Given the description of an element on the screen output the (x, y) to click on. 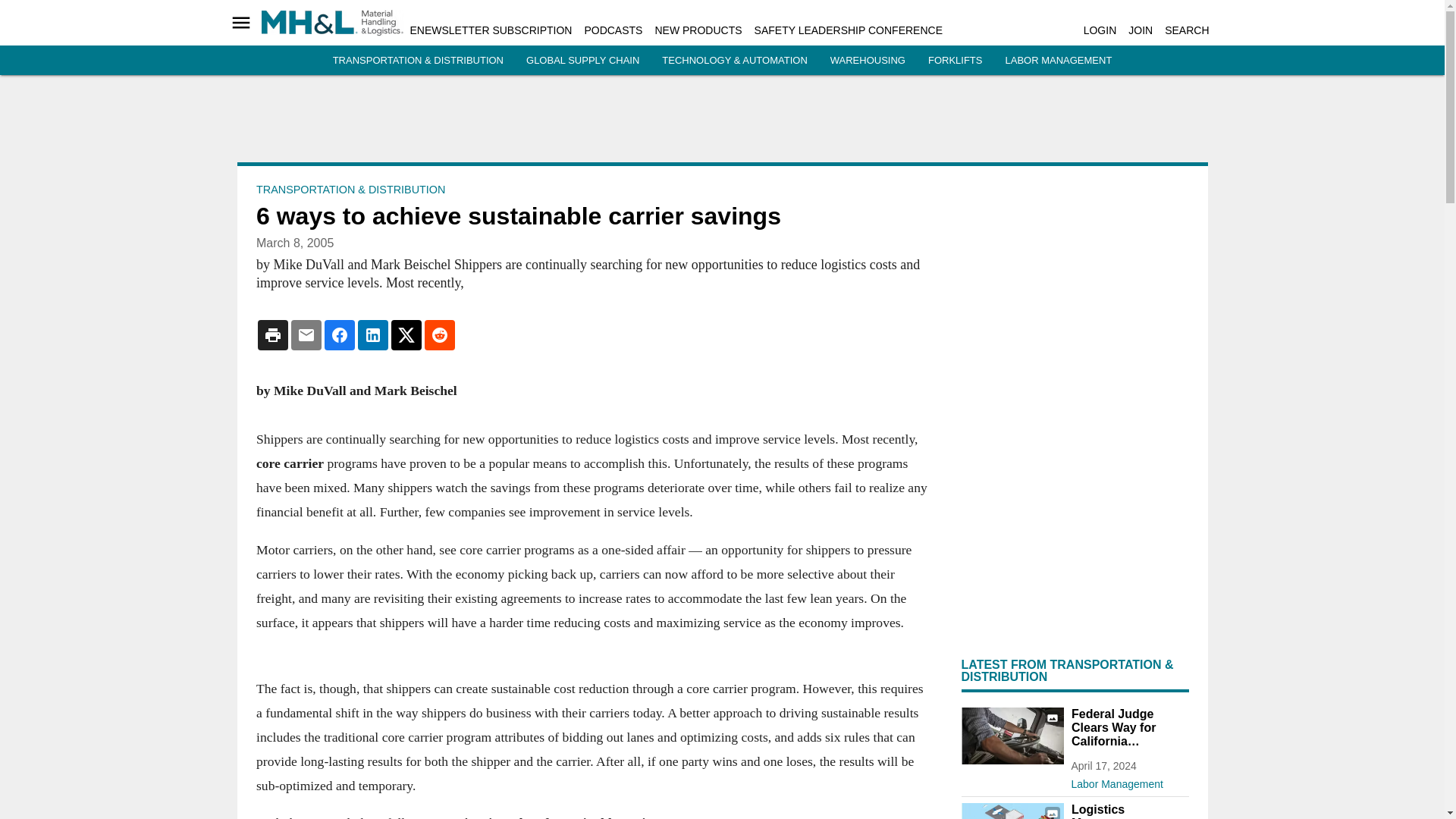
ENEWSLETTER SUBSCRIPTION (490, 30)
JOIN (1140, 30)
LABOR MANAGEMENT (1058, 60)
SEARCH (1186, 30)
NEW PRODUCTS (697, 30)
FORKLIFTS (955, 60)
LOGIN (1099, 30)
SAFETY LEADERSHIP CONFERENCE (848, 30)
PODCASTS (612, 30)
WAREHOUSING (867, 60)
